Given the description of an element on the screen output the (x, y) to click on. 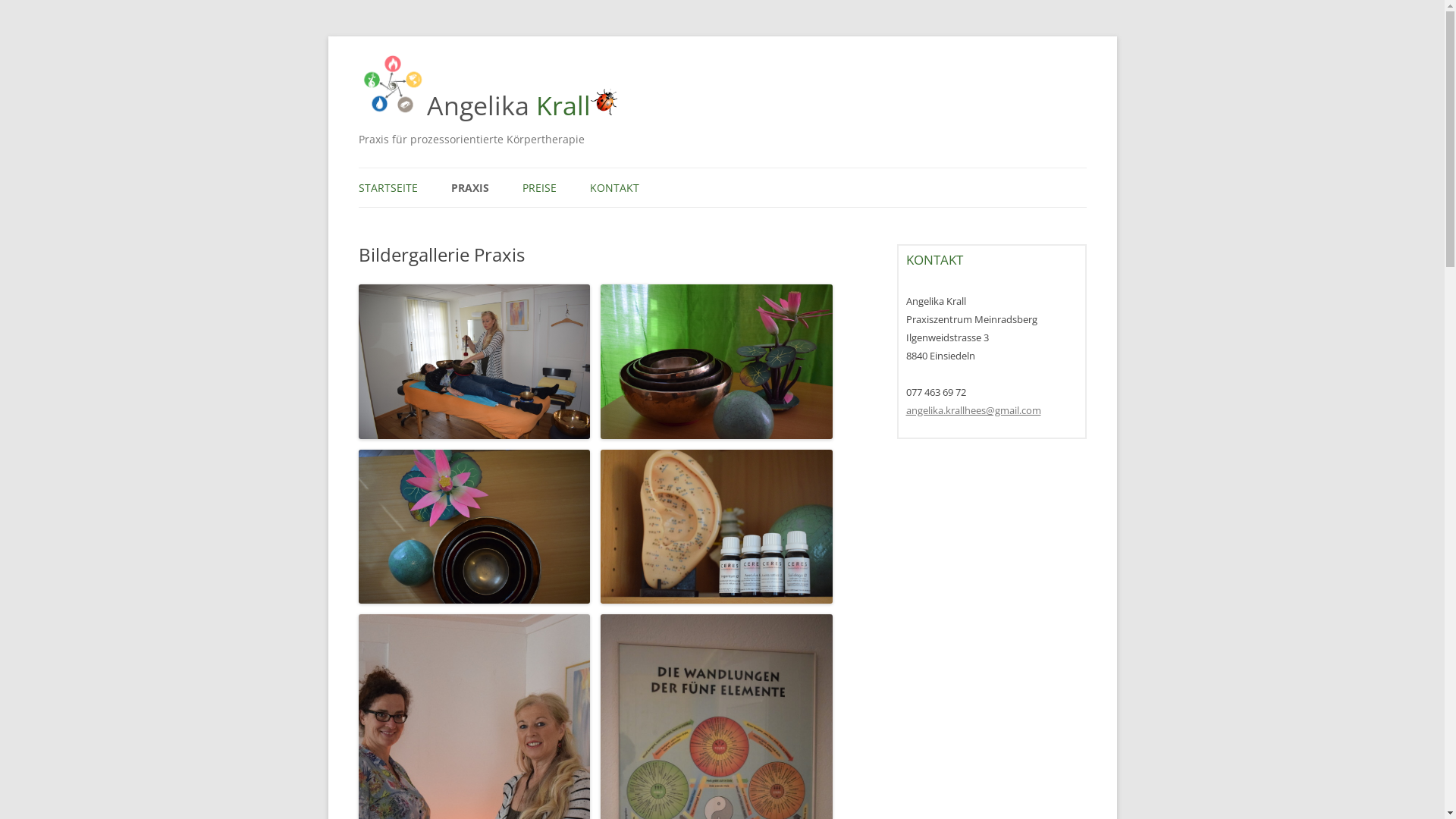
angelika.krallhees@gmail.com Element type: text (972, 410)
PRAXIS Element type: text (469, 187)
Springe zum Inhalt Element type: text (721, 167)
STARTSEITE Element type: text (387, 187)
Angelika Krall Element type: text (508, 105)
KONTAKT Element type: text (614, 187)
PREISE Element type: text (538, 187)
